Given the description of an element on the screen output the (x, y) to click on. 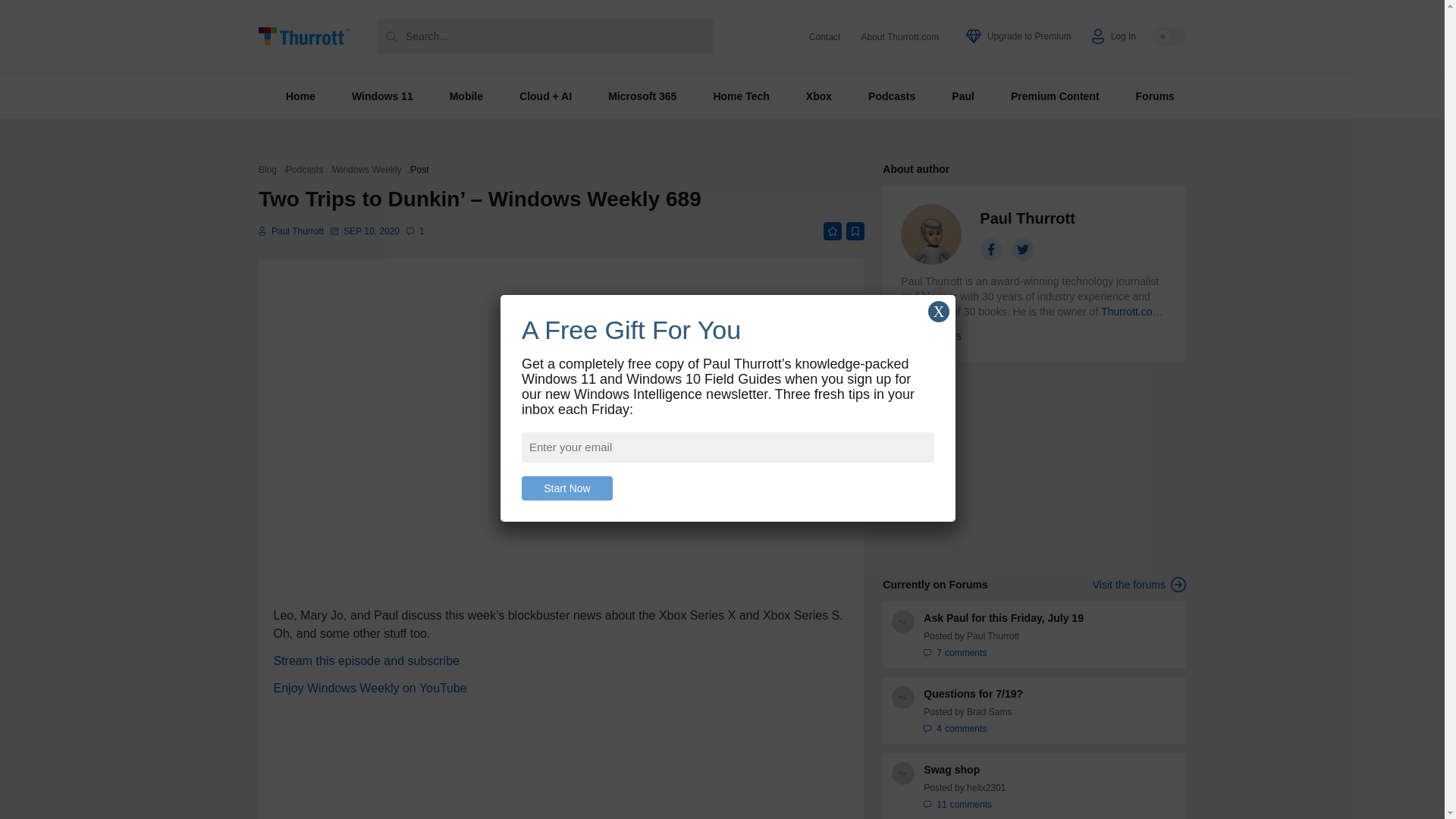
Home Tech (740, 95)
Contact (824, 36)
Microsoft 365 (641, 95)
Mobile (466, 95)
Start Now (566, 487)
Upgrade to Premium (1018, 36)
Home (300, 95)
Windows 11 (382, 95)
About Thurrott.com (899, 36)
Log In (1113, 36)
